Given the description of an element on the screen output the (x, y) to click on. 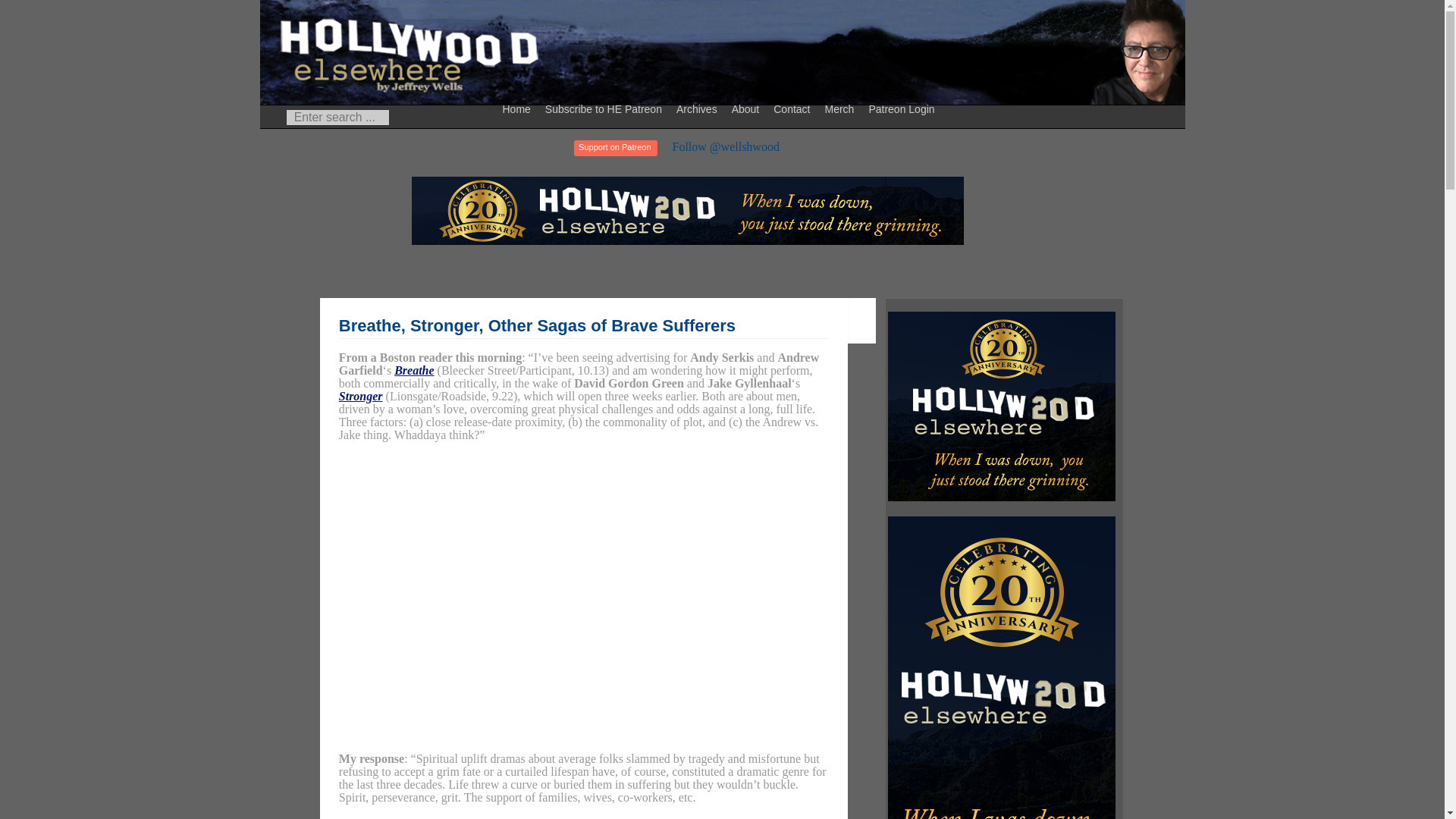
Contact (793, 108)
Archives (698, 108)
Home (519, 108)
Subscribe to HE Patreon (605, 108)
Support on Patreon (614, 148)
Merch (841, 108)
Stronger (360, 395)
Breathe, Stronger, Other Sagas of Brave Sufferers (537, 325)
Breathe (413, 369)
About (747, 108)
